Given the description of an element on the screen output the (x, y) to click on. 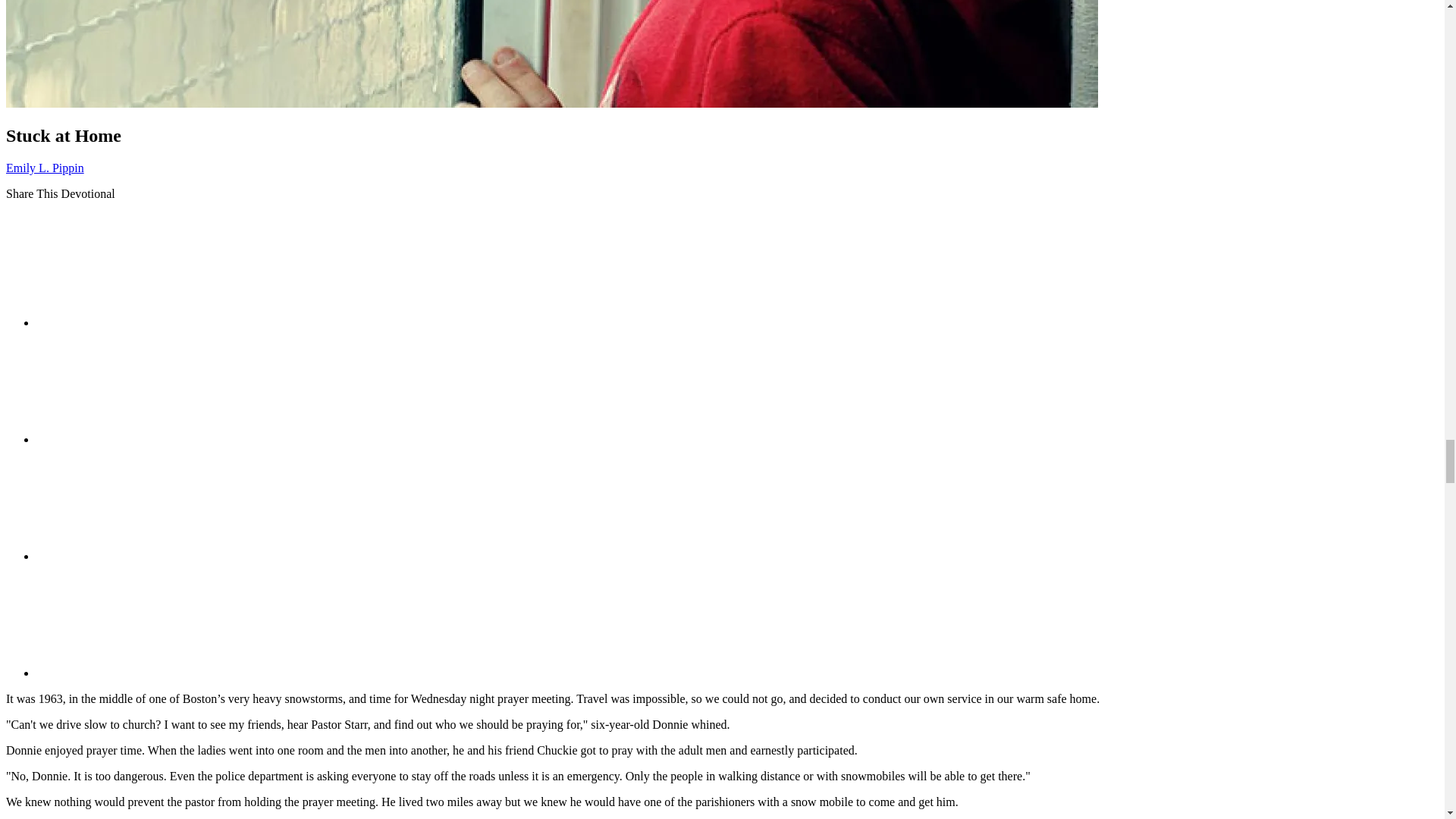
Link (149, 672)
Facebook (149, 322)
Twitter (149, 439)
Mail (149, 555)
